Given the description of an element on the screen output the (x, y) to click on. 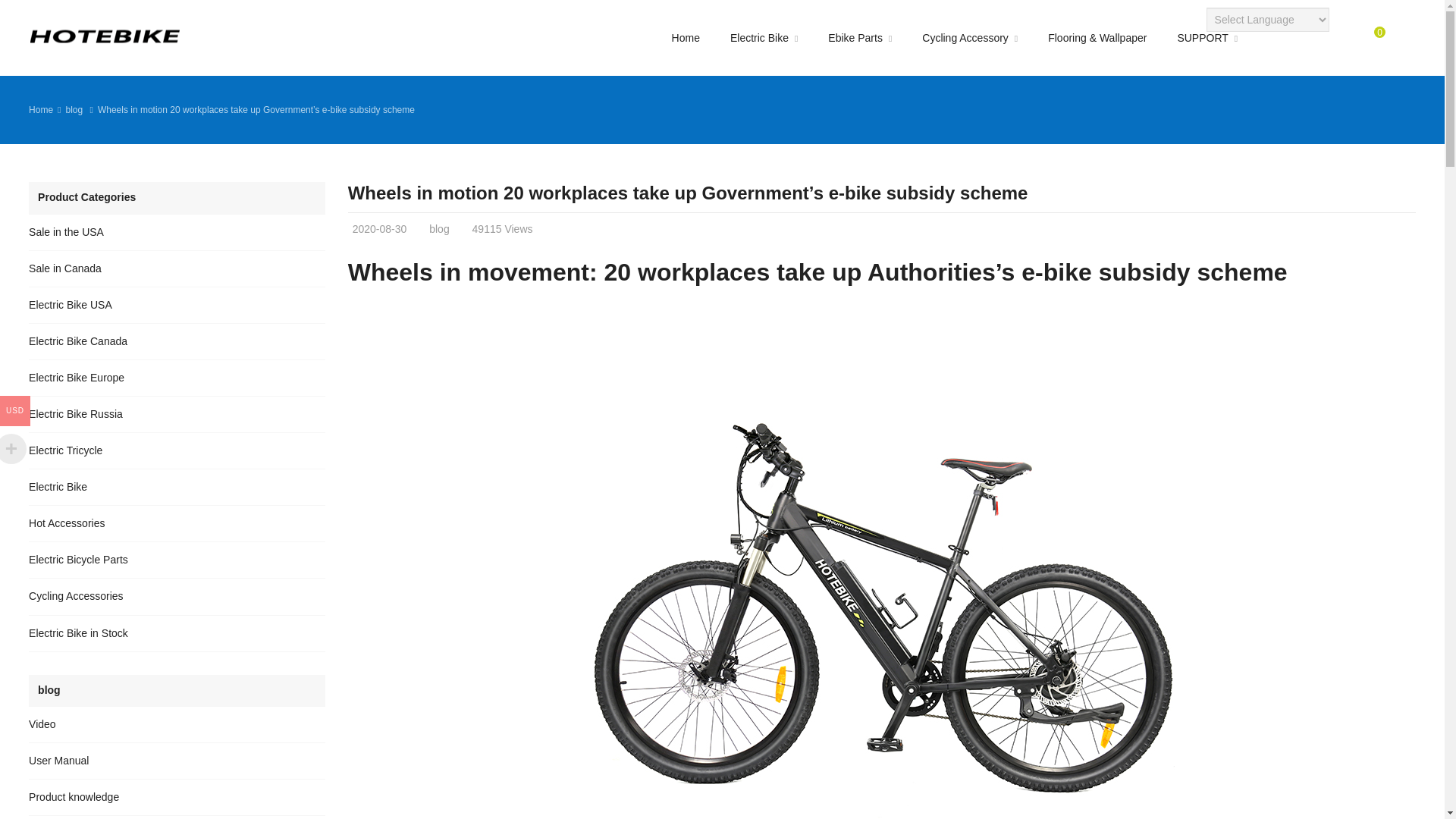
Cycling Accessory (969, 38)
hotebike (104, 37)
Ebike Parts (859, 38)
Electric Bike (763, 38)
